Given the description of an element on the screen output the (x, y) to click on. 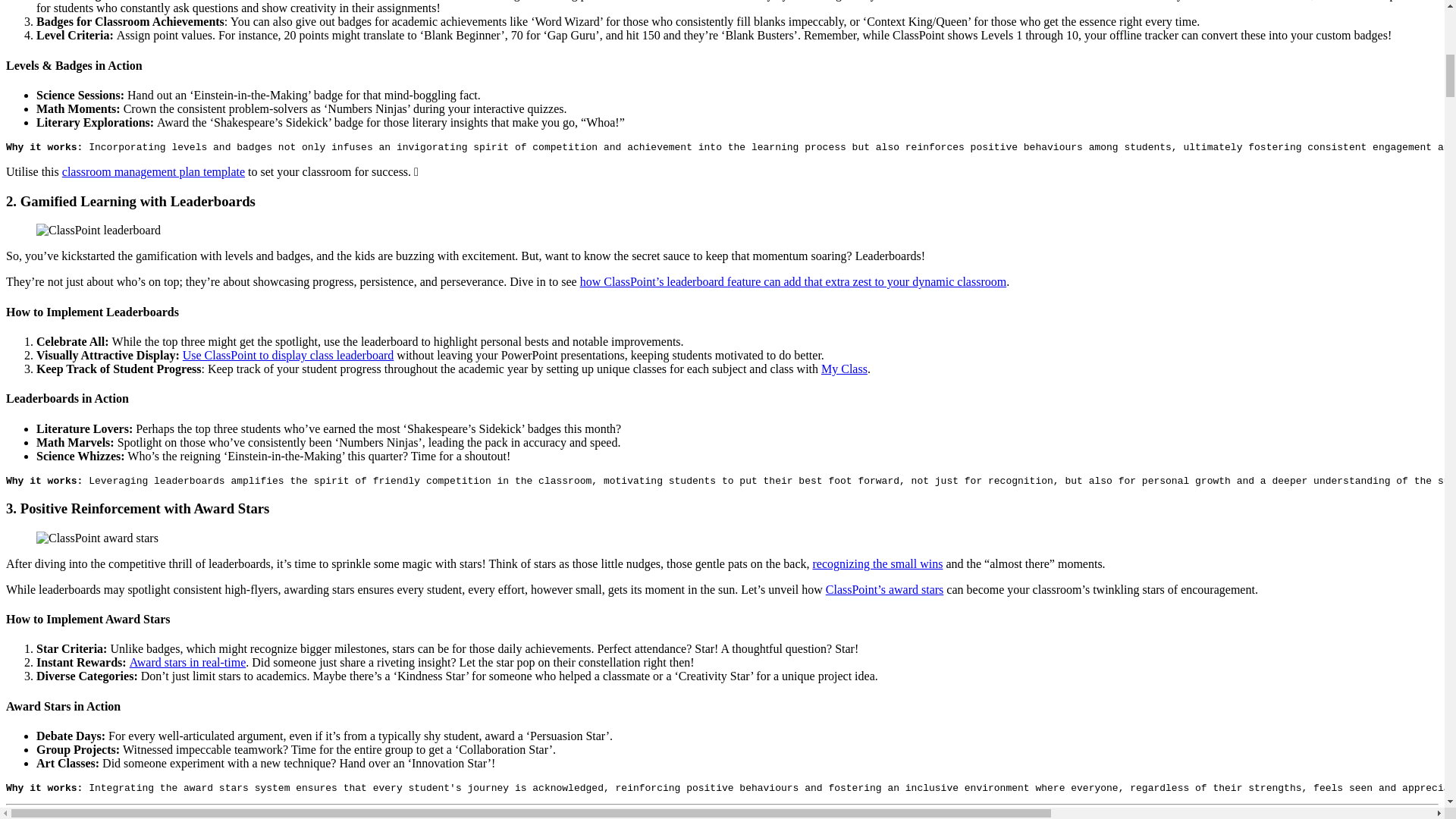
classroom management plan template (153, 171)
Award stars in real-time (187, 662)
My Class (844, 368)
recognizing the small wins (877, 563)
Use ClassPoint to display class leaderboard (288, 354)
